Given the description of an element on the screen output the (x, y) to click on. 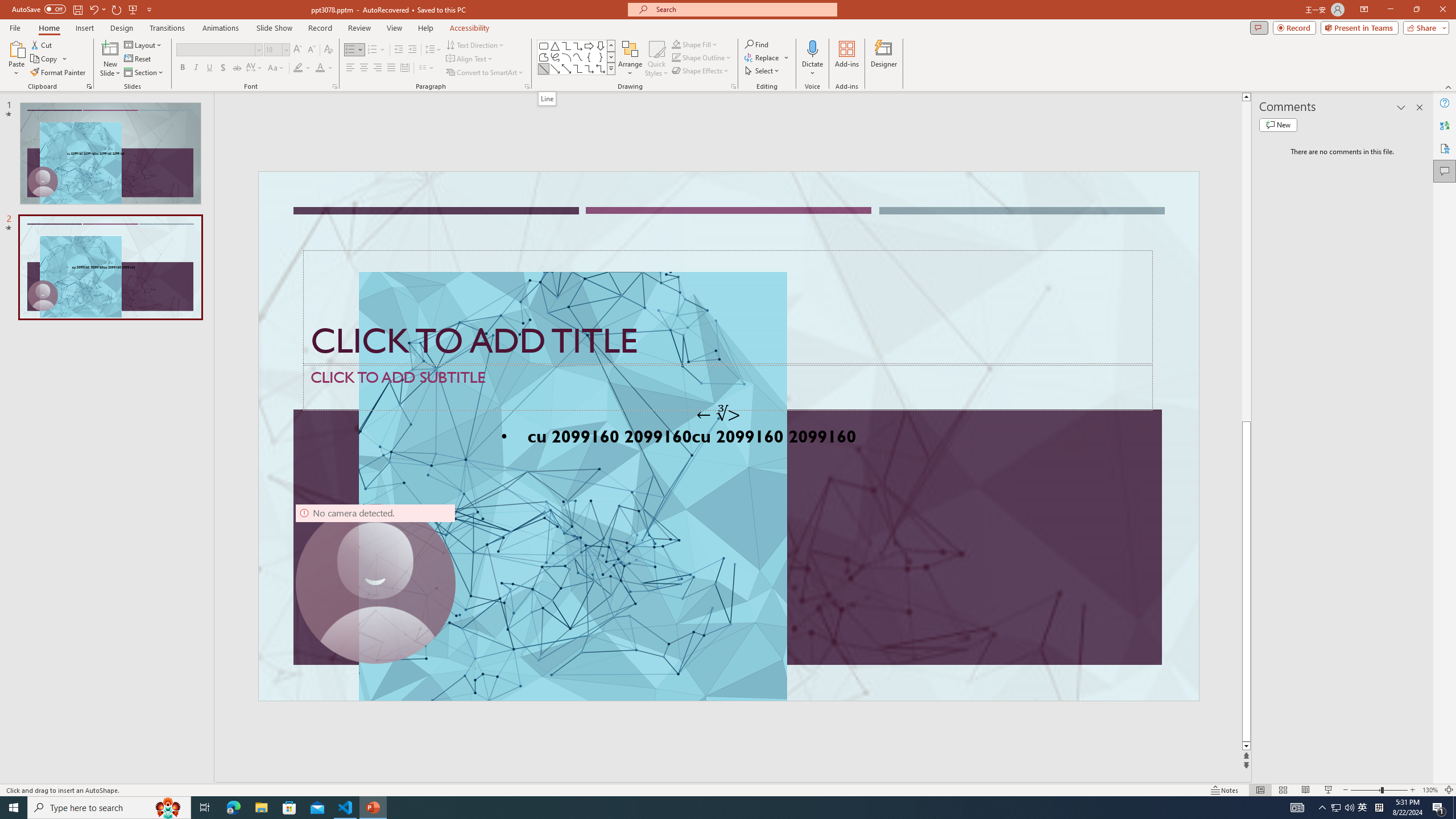
Font (219, 49)
Shadow (223, 67)
View (395, 28)
Copy (45, 58)
Isosceles Triangle (554, 45)
Zoom In (1412, 790)
Underline (209, 67)
Increase Indent (412, 49)
Line down (1245, 746)
Font Color Red (320, 67)
Character Spacing (254, 67)
System (6, 6)
Undo (92, 9)
New Slide (110, 58)
TextBox 61 (726, 438)
